Given the description of an element on the screen output the (x, y) to click on. 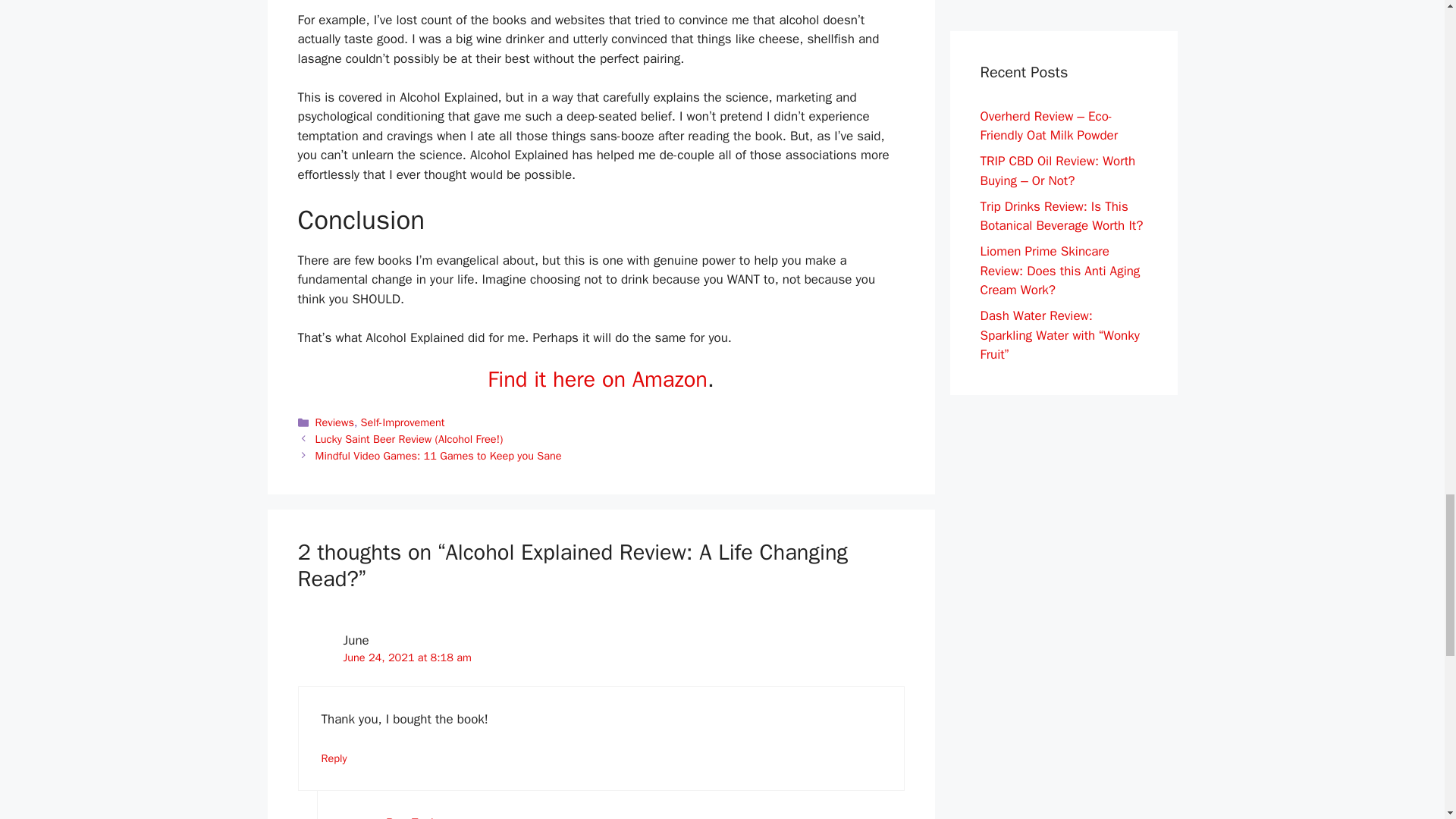
Mindful Video Games: 11 Games to Keep you Sane (438, 455)
Self-Improvement (403, 422)
Reviews (334, 422)
Ben Taylor (414, 816)
Find it here on Amazon (597, 379)
Reply (334, 757)
June 24, 2021 at 8:18 am (406, 657)
